Given the description of an element on the screen output the (x, y) to click on. 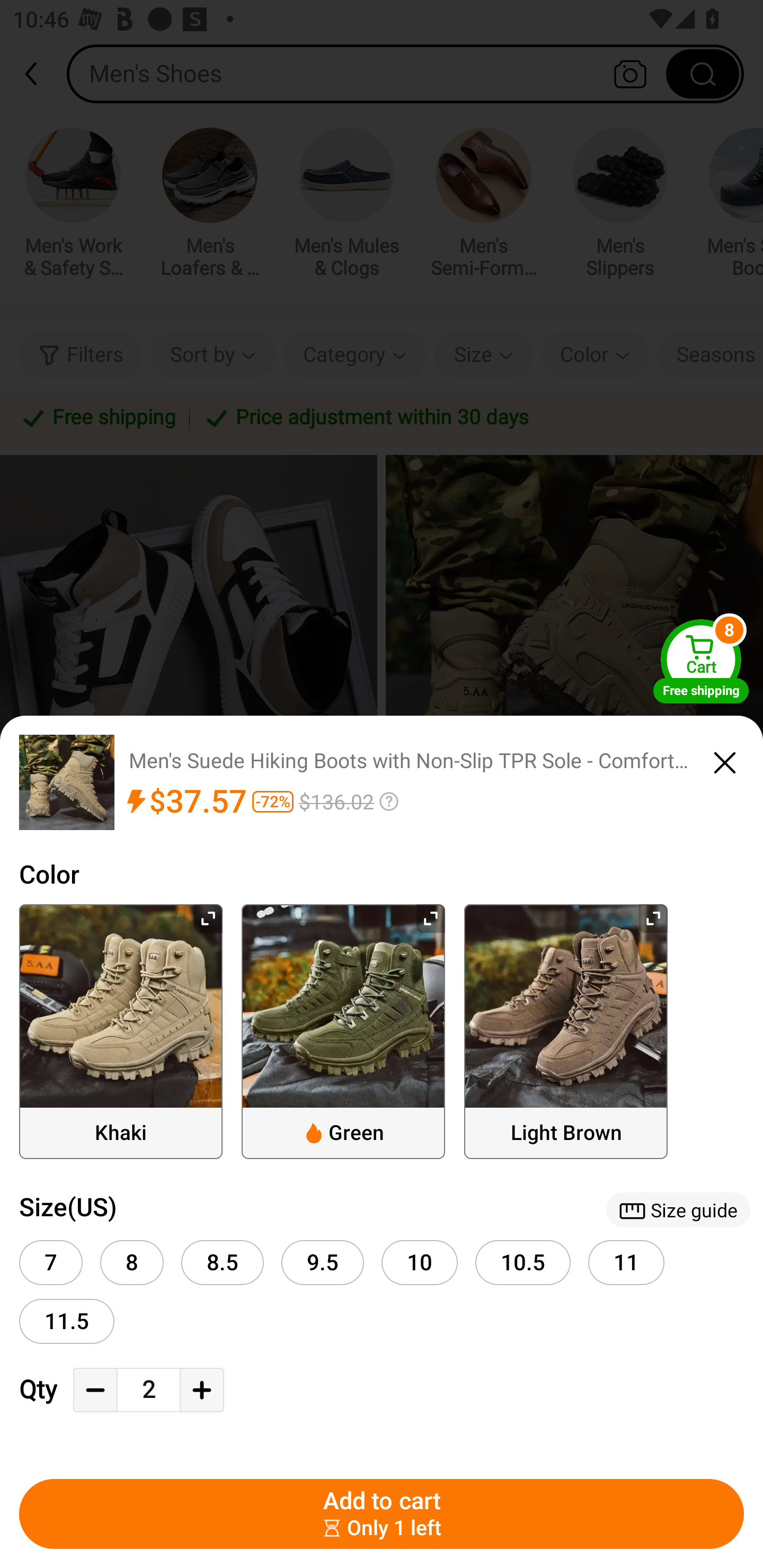
Cart Free shipping Cart (701, 660)
close (724, 760)
Khaki (120, 1031)
Green ￼Green (342, 1031)
Light Brown (565, 1031)
￼Size guide (677, 1209)
 7 (50, 1262)
 8 (131, 1262)
 8.5 (222, 1262)
 9.5 (322, 1262)
 10 (419, 1262)
 10.5 (522, 1262)
 11 (626, 1262)
 11.5 (66, 1320)
Decrease Quantity Button (95, 1389)
Add Quantity Button (201, 1389)
2 (148, 1389)
Add to cart ￼￼Only 1 left (381, 1513)
